Given the description of an element on the screen output the (x, y) to click on. 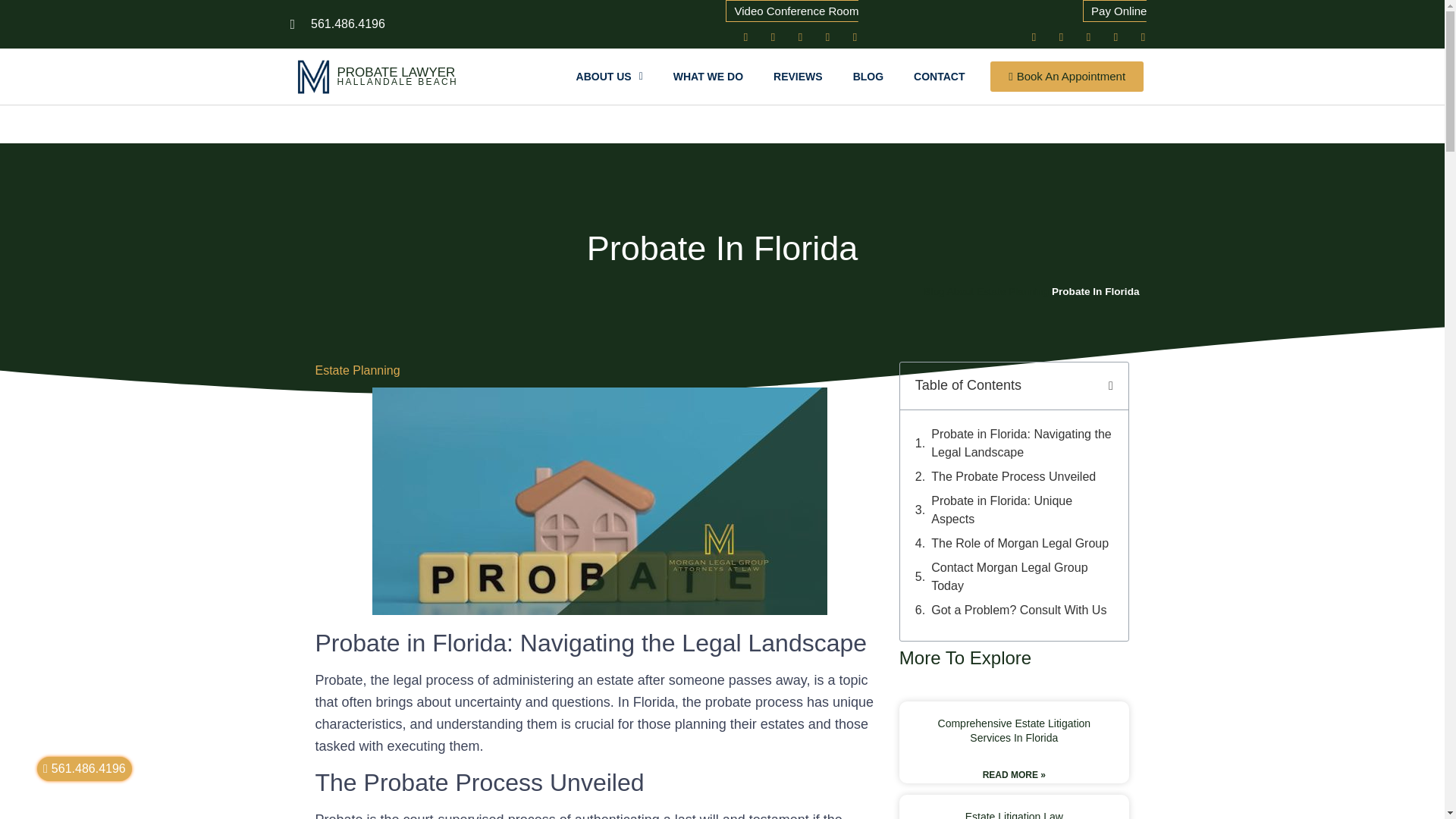
CONTACT (938, 76)
561.486.4196 (84, 768)
Blog About Estate Planning (985, 291)
561.486.4196 (336, 24)
Probate in Florida: Unique Aspects (1022, 510)
Estate Planning (357, 369)
Book An Appointment (1066, 76)
Pay Online (1115, 21)
Probate in Florida: Navigating the Legal Landscape (1022, 443)
PROBATE LAWYER (395, 72)
WHAT WE DO (708, 76)
Video Conference Room (792, 29)
The Probate Process Unveiled (1013, 476)
BLOG (868, 76)
HALLANDALE BEACH (397, 81)
